Given the description of an element on the screen output the (x, y) to click on. 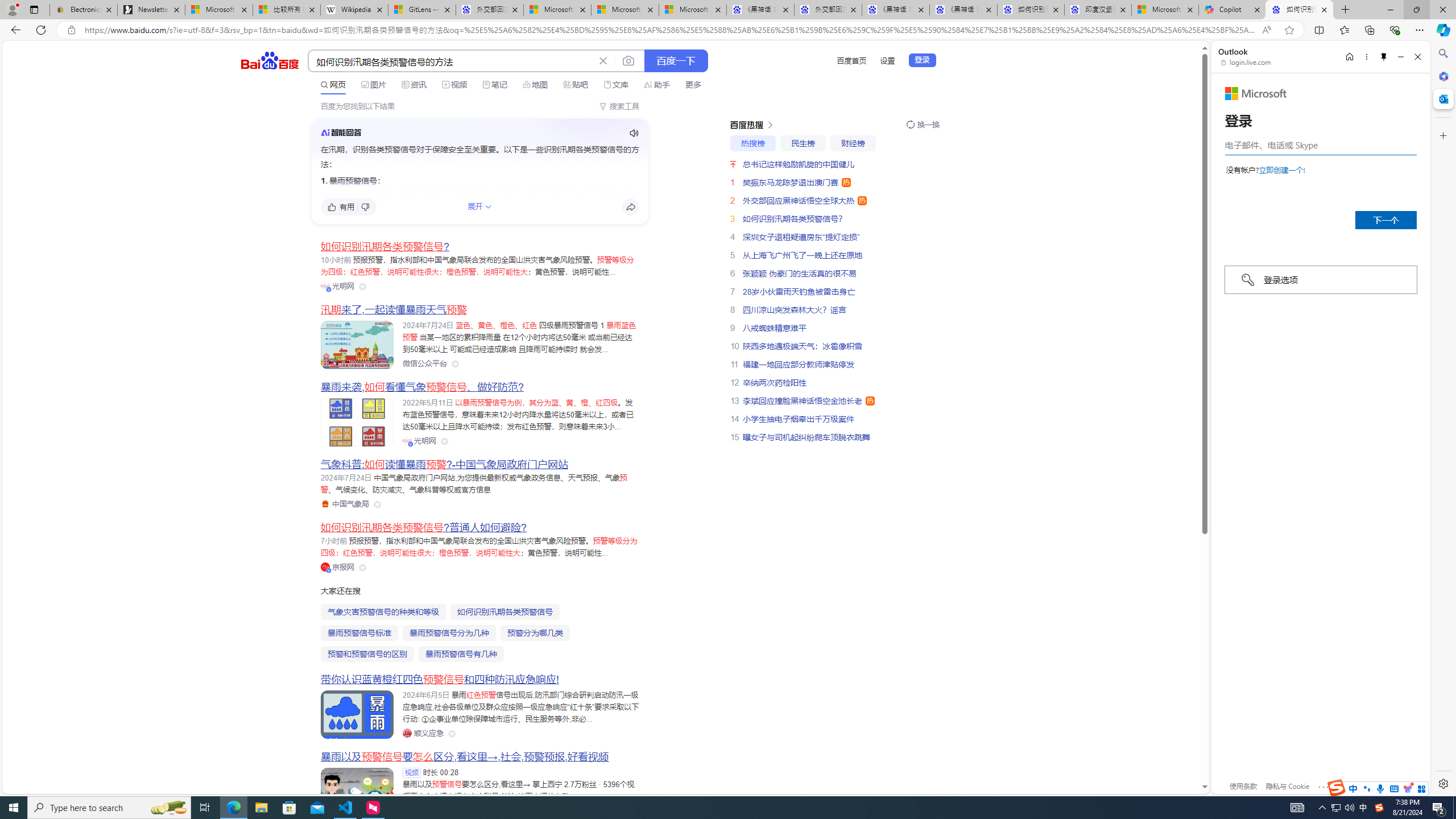
Class: sc-audio-svg _pause-icon_13ucw_87 (633, 132)
login.live.com (1246, 61)
